Given the description of an element on the screen output the (x, y) to click on. 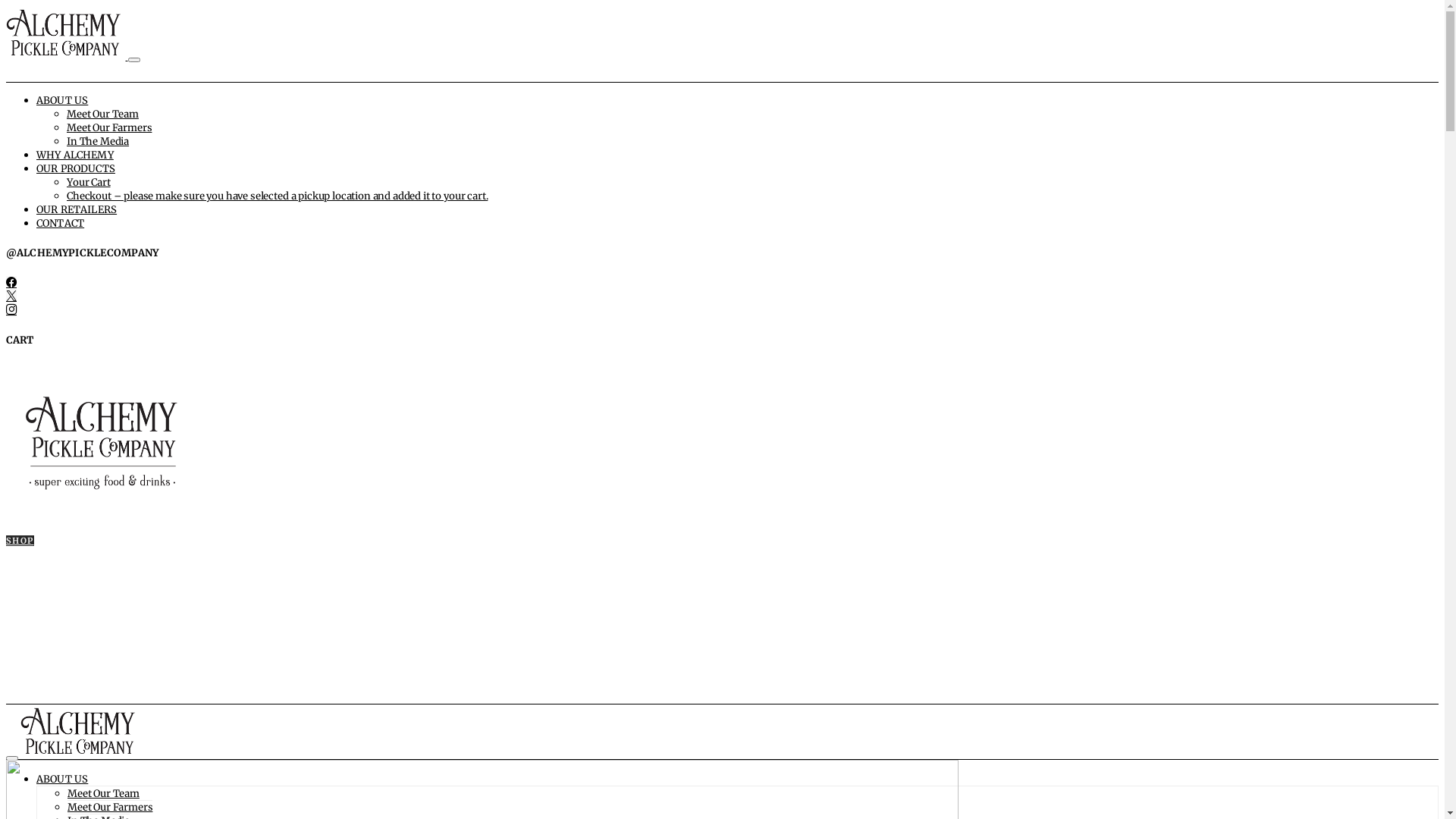
Meet Our Farmers Element type: text (109, 806)
In The Media Element type: text (97, 140)
Your Cart Element type: text (88, 181)
CONTACT Element type: text (60, 222)
OUR RETAILERS Element type: text (76, 209)
Meet Our Team Element type: text (102, 113)
SHOP Element type: text (20, 540)
Meet Our Farmers Element type: text (108, 127)
ABOUT US Element type: text (61, 778)
ABOUT US Element type: text (61, 100)
WHY ALCHEMY Element type: text (74, 154)
Meet Our Team Element type: text (103, 793)
OUR PRODUCTS Element type: text (75, 168)
